Given the description of an element on the screen output the (x, y) to click on. 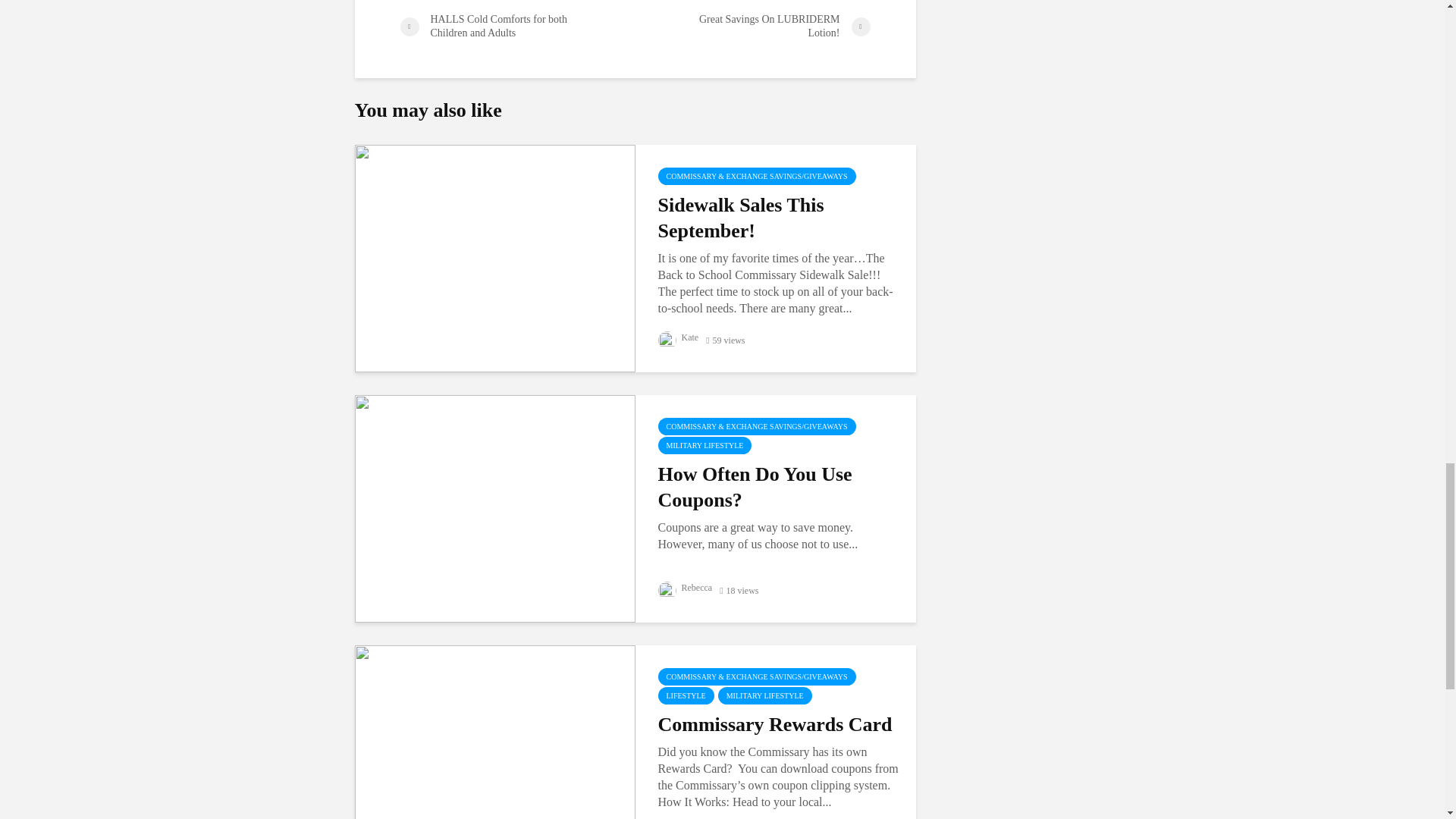
Commissary Rewards Card (494, 757)
Sidewalk Sales This September! (778, 218)
Sidewalk Sales This September! (494, 256)
Kate (678, 337)
How Often Do You Use Coupons? (494, 507)
Great Savings On LUBRIDERM Lotion! (752, 26)
HALLS Cold Comforts for both Children and Adults (517, 26)
